Given the description of an element on the screen output the (x, y) to click on. 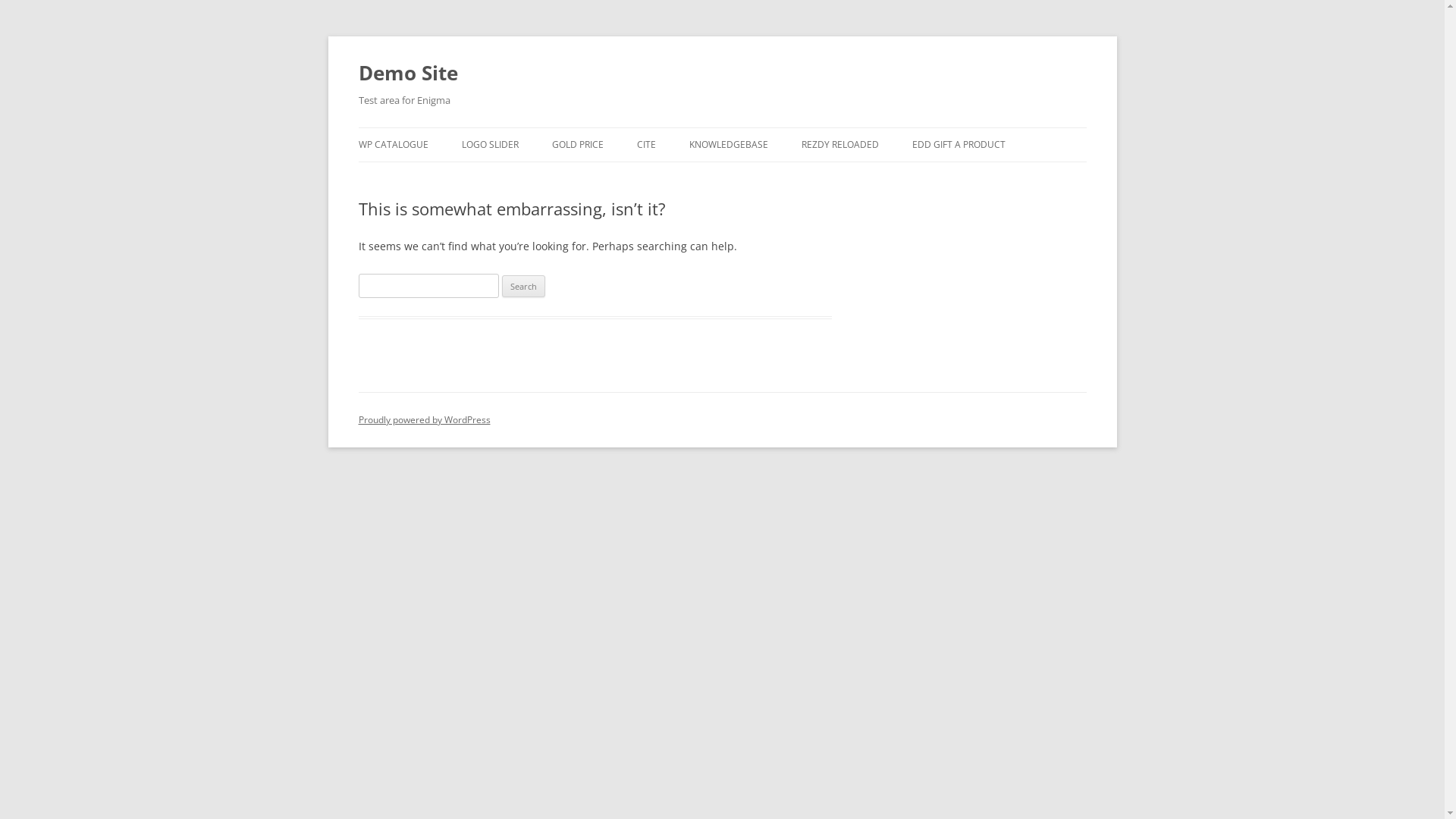
LOGO SLIDER Element type: text (489, 144)
WP CATALOGUE Element type: text (392, 144)
EDD GIFT A PRODUCT Element type: text (957, 144)
Skip to content Element type: text (721, 127)
Proudly powered by WordPress Element type: text (423, 419)
Demo Site Element type: text (407, 72)
KNOWLEDGEBASE Element type: text (727, 144)
CITE Element type: text (646, 144)
GOLD PRICE Element type: text (577, 144)
Search Element type: text (523, 286)
REZDY RELOADED Element type: text (839, 144)
